Given the description of an element on the screen output the (x, y) to click on. 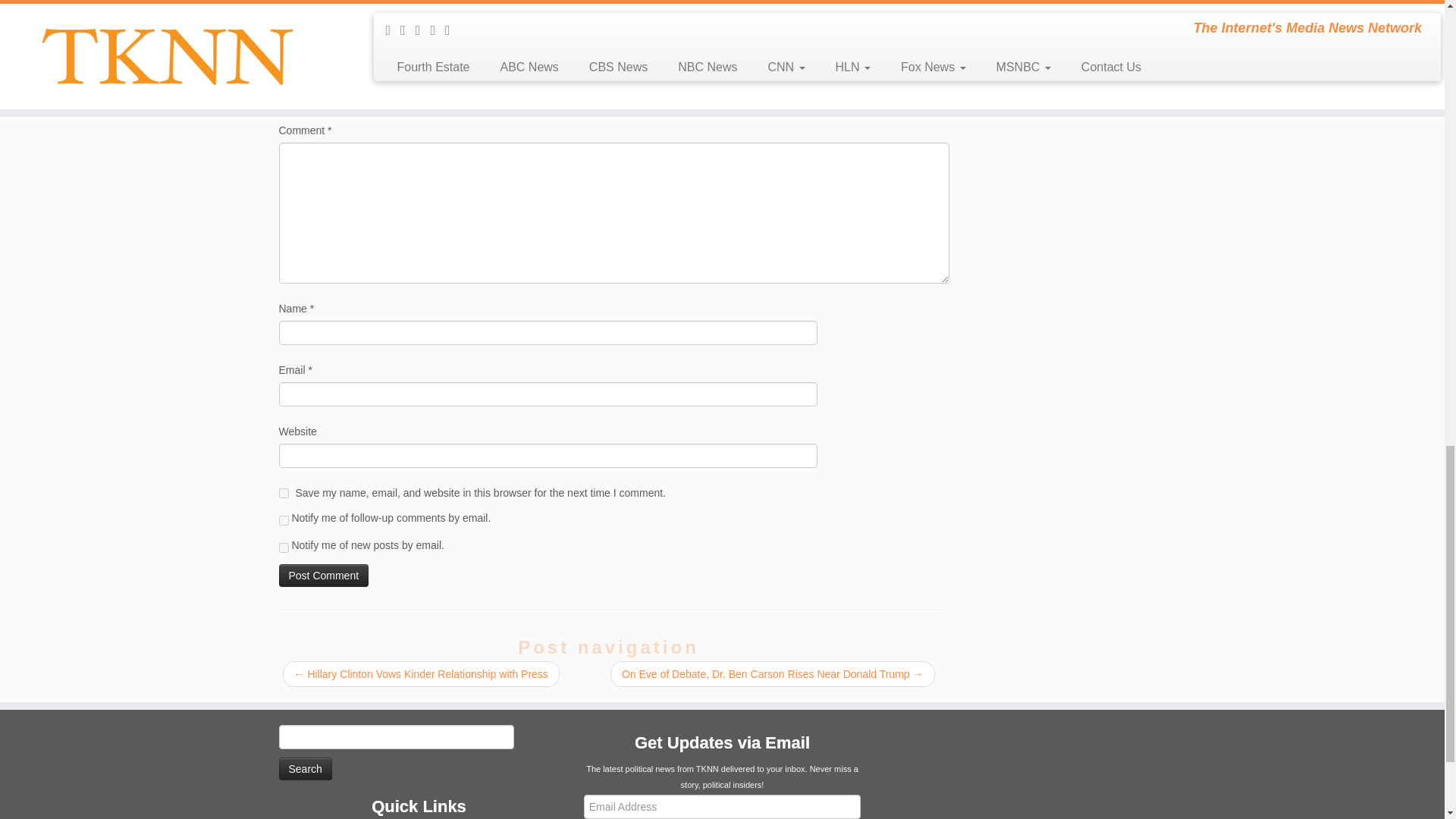
yes (283, 492)
Post Comment (324, 575)
Search (305, 768)
subscribe (283, 547)
Post Comment (324, 575)
subscribe (283, 520)
